Given the description of an element on the screen output the (x, y) to click on. 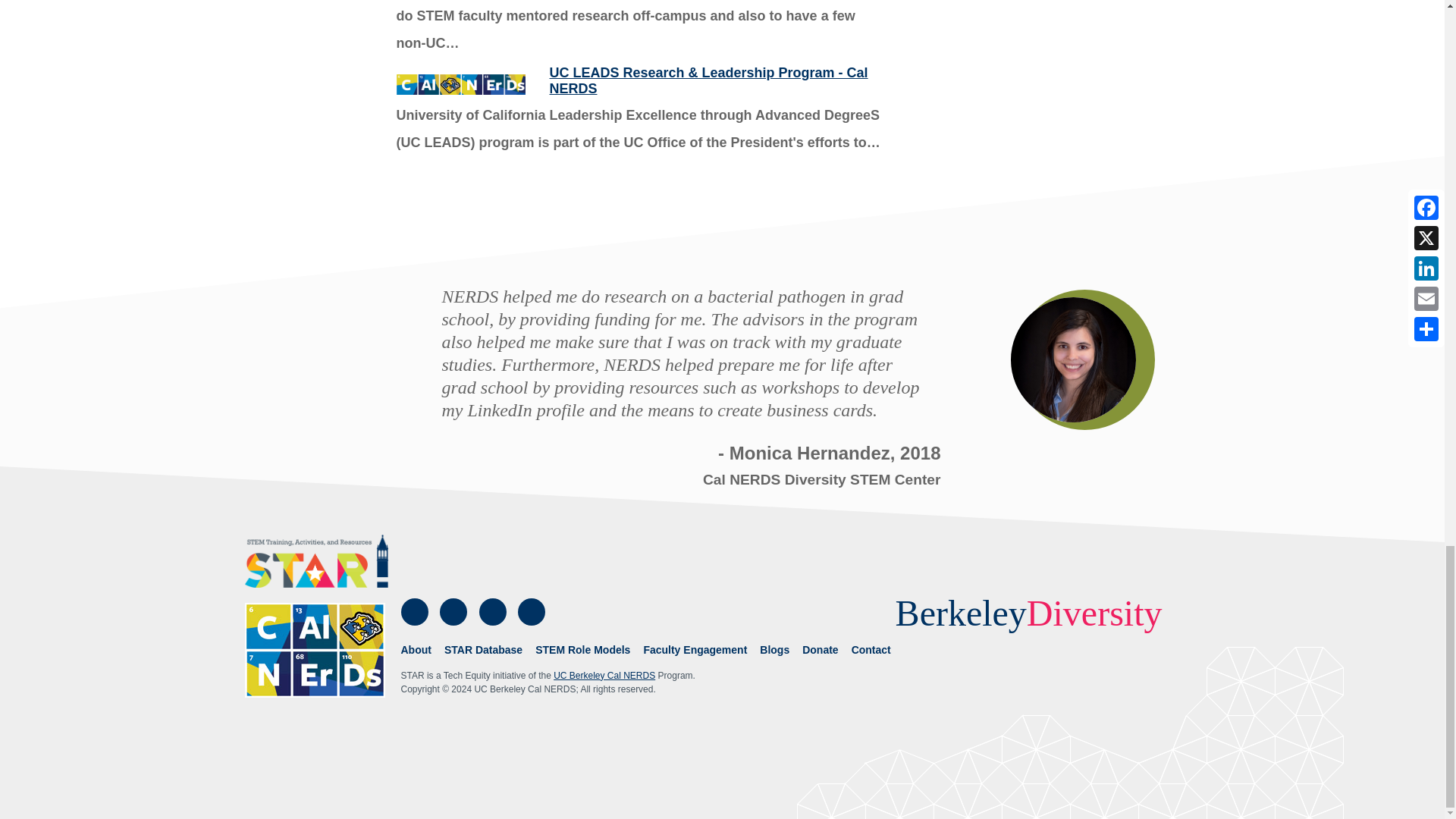
STAR Database (483, 650)
About (415, 650)
Blogs (774, 650)
Faculty Engagement (694, 650)
STEM Role Models (582, 650)
